Given the description of an element on the screen output the (x, y) to click on. 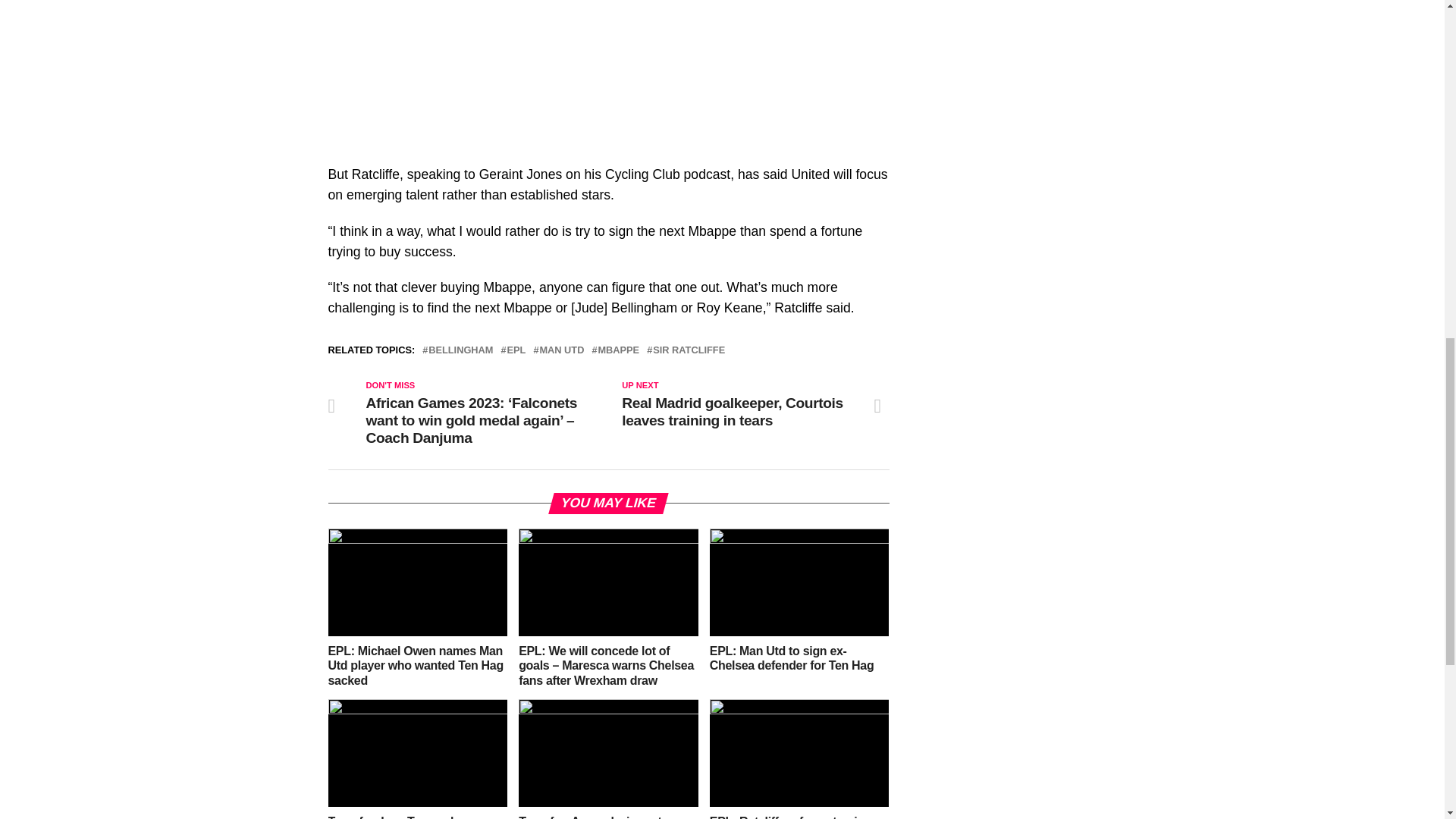
SIR RATCLIFFE (688, 350)
EPL (515, 350)
BELLINGHAM (460, 350)
MAN UTD (560, 350)
MBAPPE (617, 350)
